Given the description of an element on the screen output the (x, y) to click on. 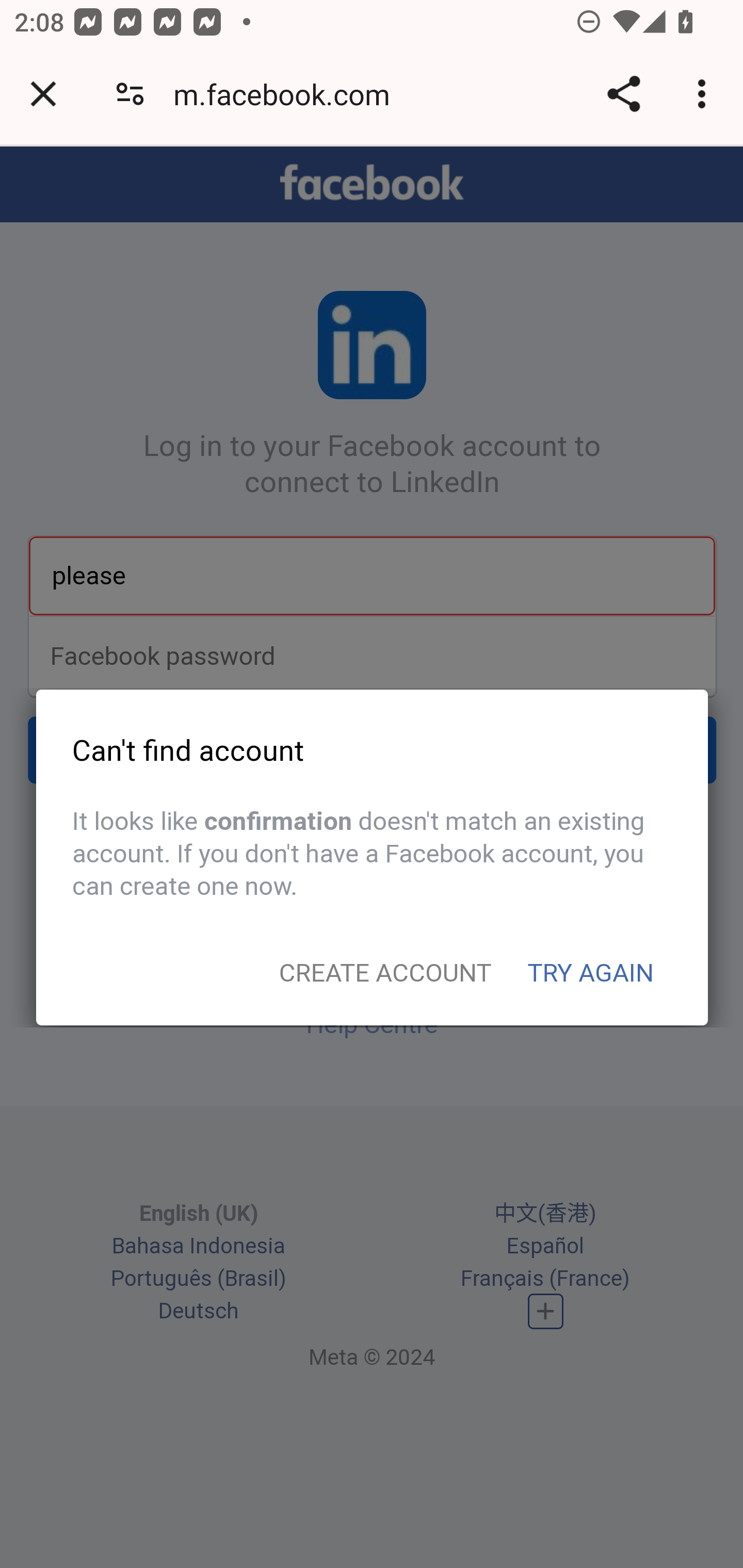
Close tab (43, 93)
Share (623, 93)
Customize and control Google Chrome (705, 93)
Connection is secure (129, 93)
m.facebook.com (288, 93)
Log in (372, 751)
Forgotten password? (371, 823)
CREATE ACCOUNT (385, 973)
TRY AGAIN (590, 973)
